Given the description of an element on the screen output the (x, y) to click on. 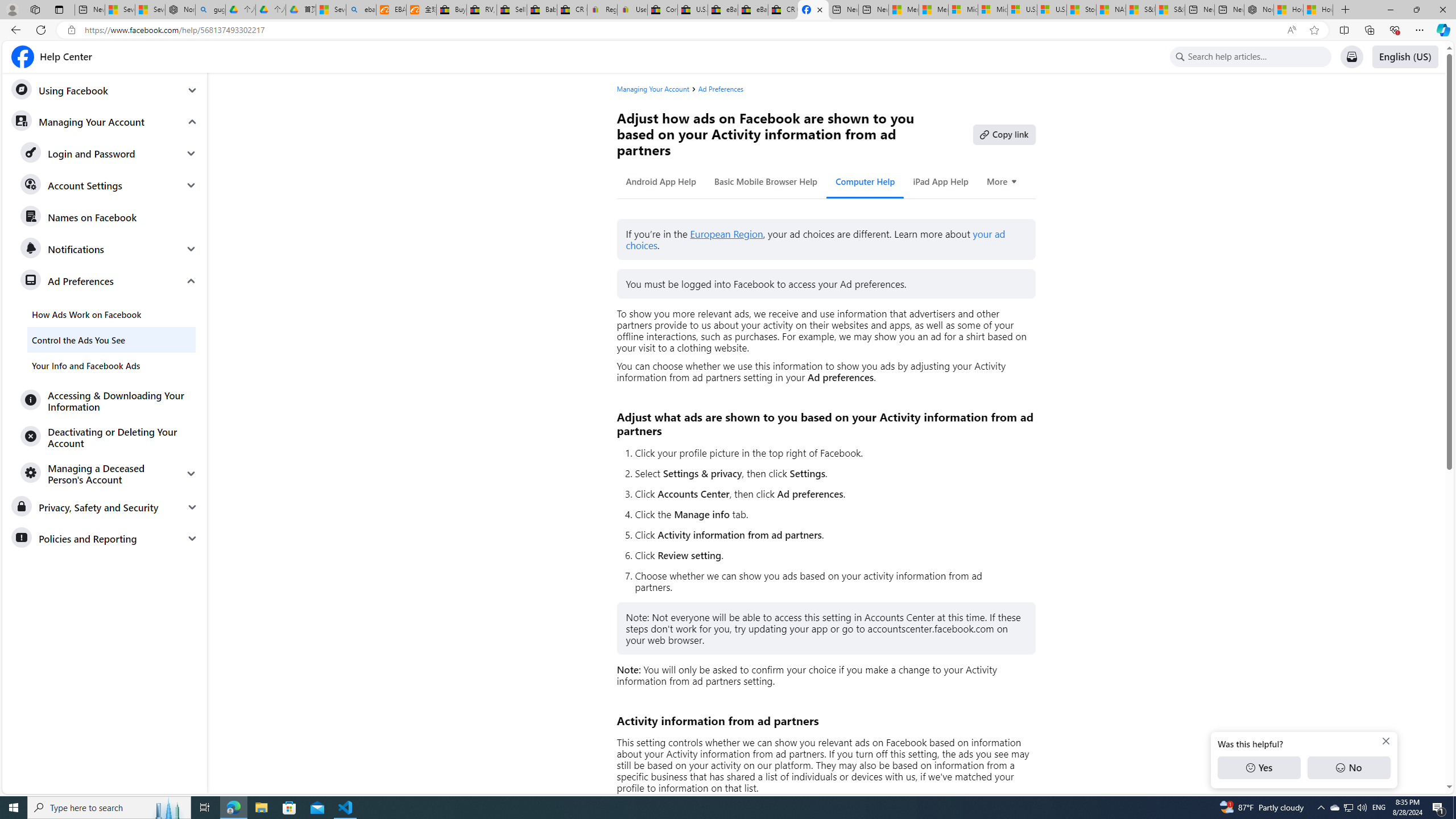
Click Accounts Center, then click Ad preferences. (829, 493)
Support Inbox (1350, 56)
Register: Create a personal eBay account (601, 9)
Login and Password (108, 153)
Using Facebook (104, 90)
How Ads Work on Facebook (111, 313)
Address and search bar (680, 29)
User Privacy Notice | eBay (632, 9)
